Given the description of an element on the screen output the (x, y) to click on. 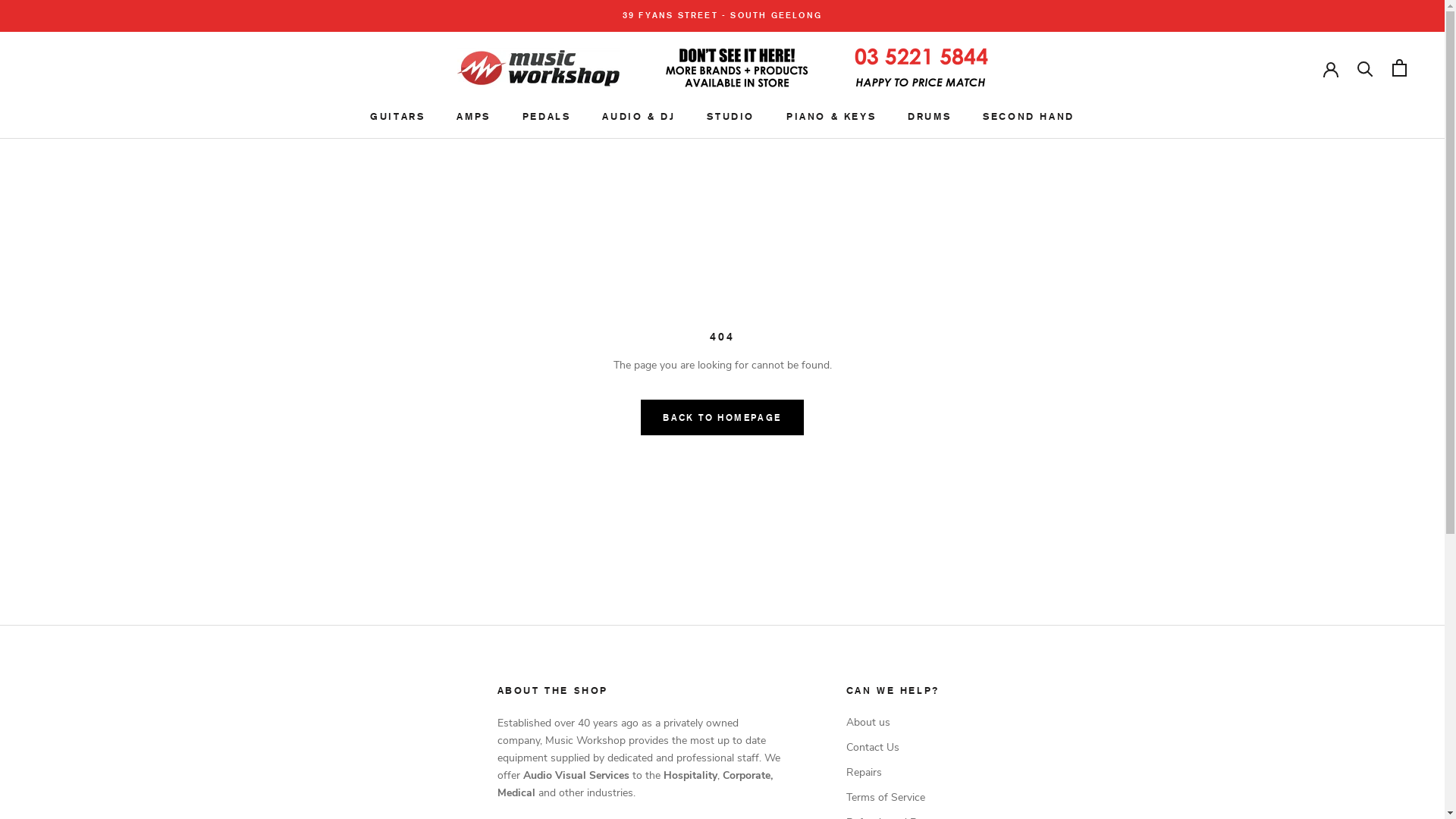
Terms of Service Element type: text (896, 797)
GUITARS Element type: text (397, 115)
PIANO & KEYS Element type: text (830, 115)
STUDIO Element type: text (730, 115)
DRUMS Element type: text (928, 115)
39 FYANS STREET - SOUTH GEELONG Element type: text (722, 15)
PEDALS Element type: text (546, 115)
Repairs Element type: text (896, 772)
BACK TO HOMEPAGE Element type: text (721, 417)
AMPS Element type: text (472, 115)
AUDIO & DJ Element type: text (638, 115)
SECOND HAND
SECOND HAND Element type: text (1028, 115)
Contact Us Element type: text (896, 747)
About us Element type: text (896, 722)
